Given the description of an element on the screen output the (x, y) to click on. 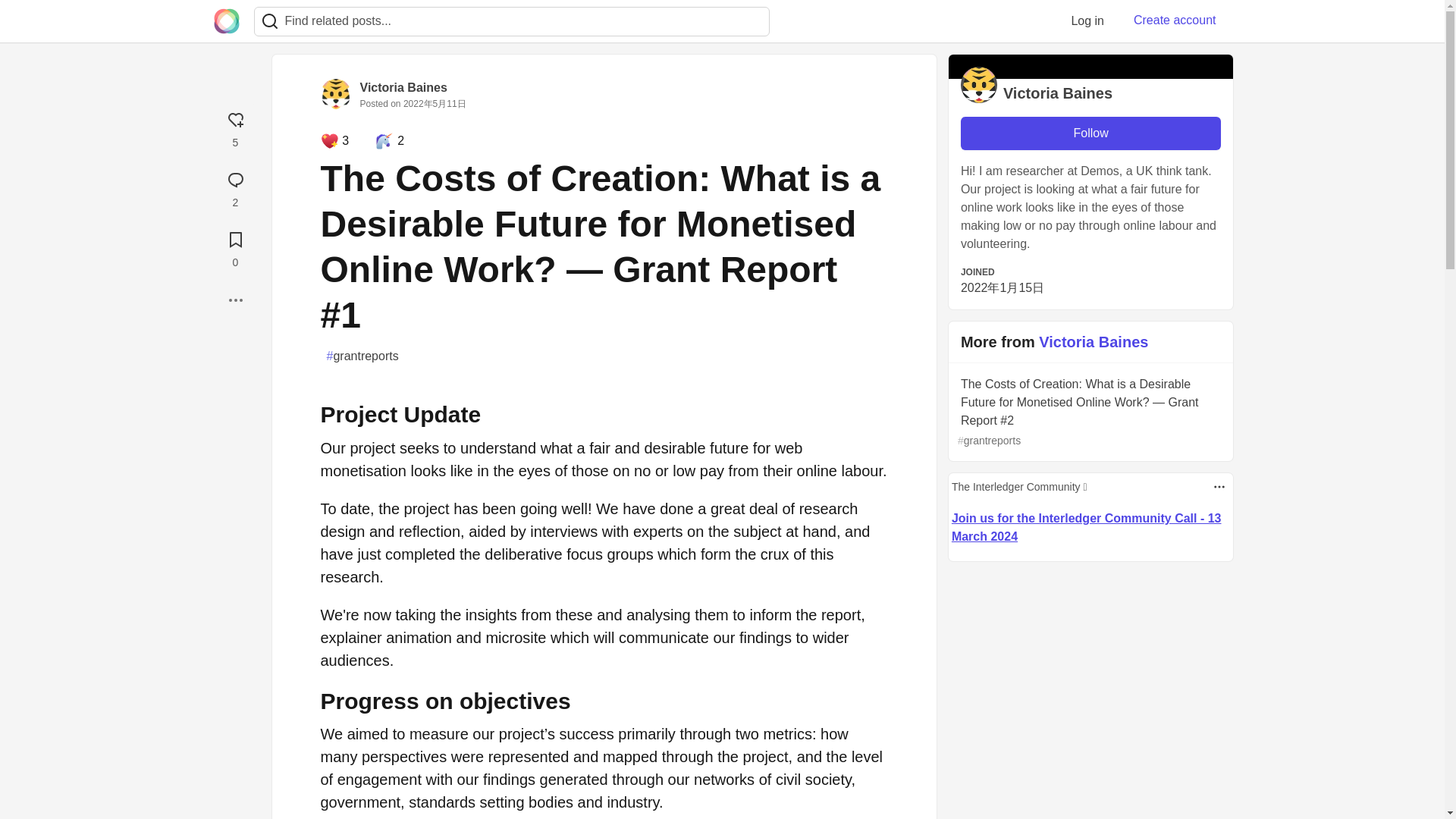
Log in (1087, 20)
More... (234, 300)
Victoria Baines (402, 87)
More... (234, 299)
Create account (1174, 20)
Dropdown menu (1218, 486)
0 (235, 247)
2 (235, 187)
